Given the description of an element on the screen output the (x, y) to click on. 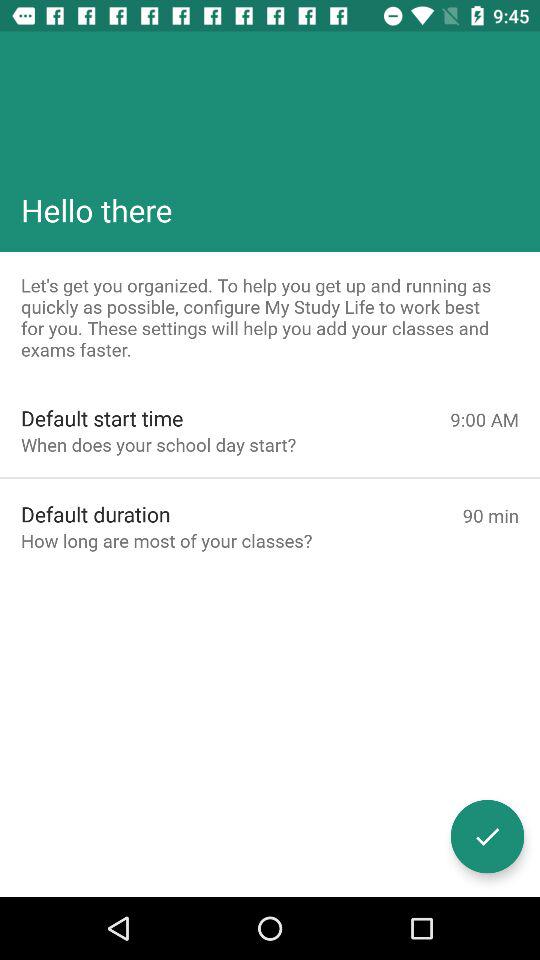
open the item at the bottom right corner (487, 836)
